Given the description of an element on the screen output the (x, y) to click on. 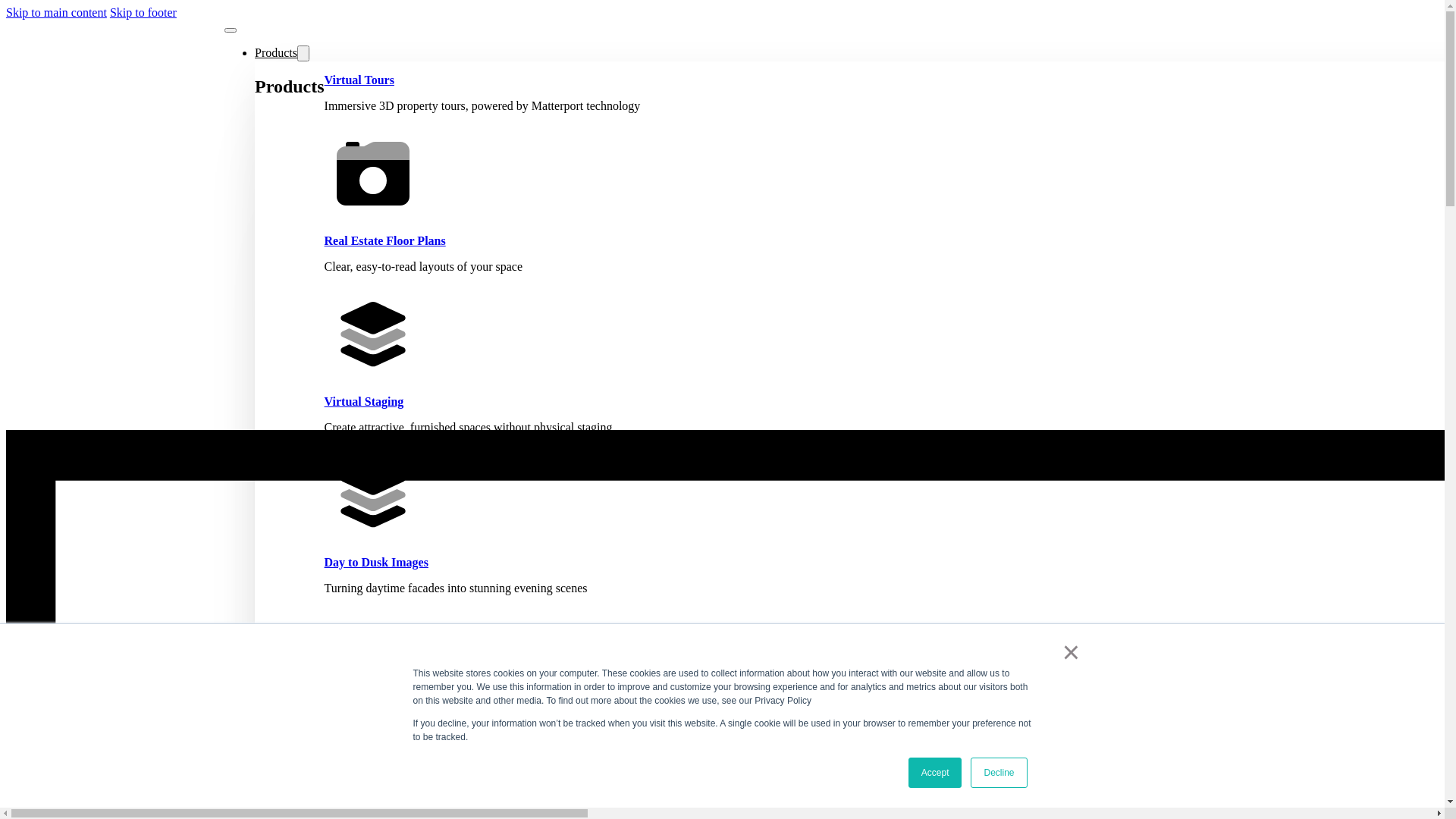
Virtual Staging Element type: text (364, 401)
Skip to footer Element type: text (142, 12)
Skip to main content Element type: text (56, 12)
Decline Element type: text (998, 772)
Day to Dusk Images Element type: text (376, 561)
Real Estate Floor Plans Element type: text (384, 240)
Virtual Tours Element type: text (359, 79)
Products Element type: text (275, 52)
Accept Element type: text (935, 772)
